Given the description of an element on the screen output the (x, y) to click on. 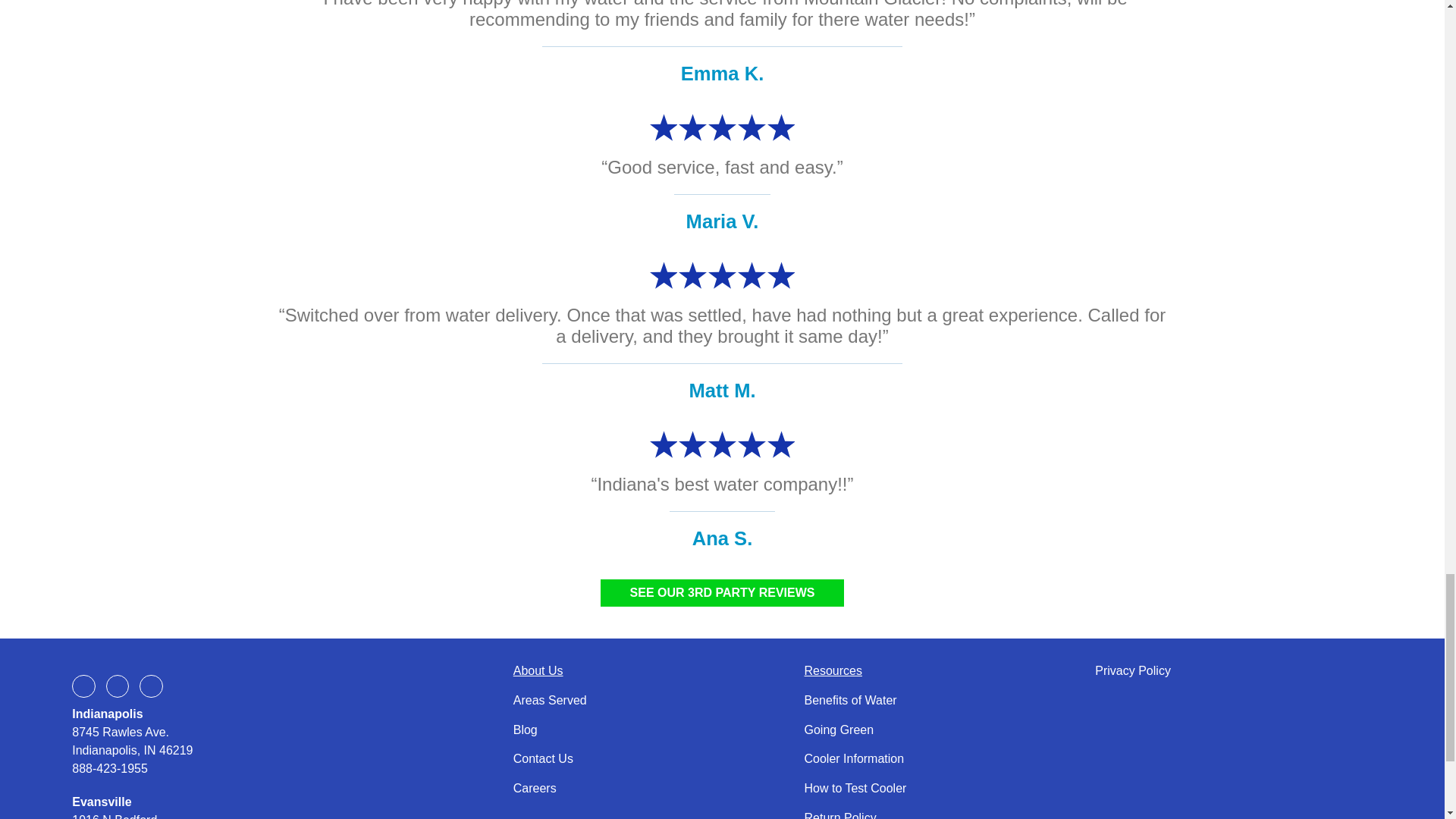
YouTube (150, 685)
Facebook (82, 685)
Twitter (117, 685)
